Given the description of an element on the screen output the (x, y) to click on. 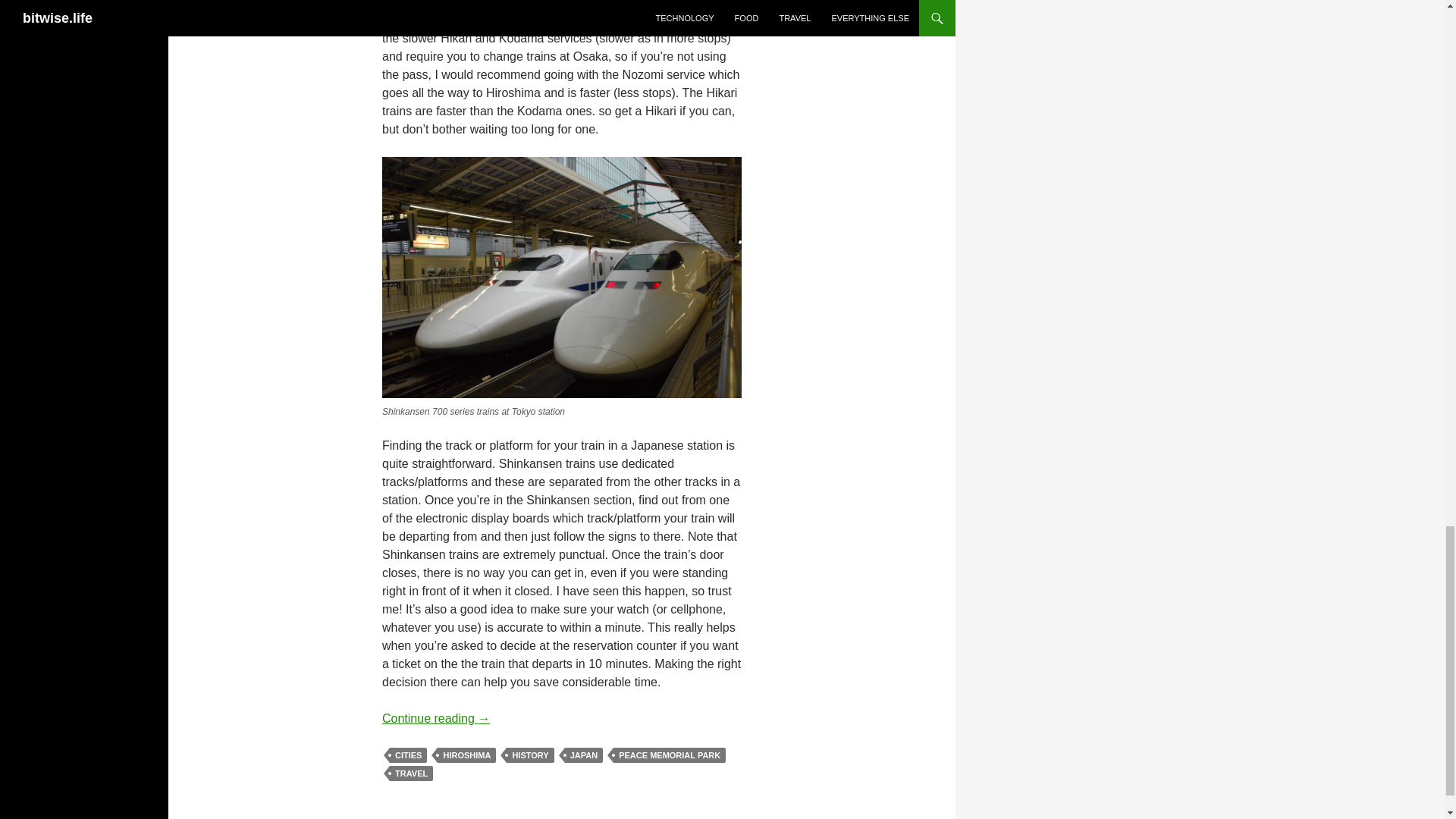
JAPAN (583, 754)
TRAVEL (411, 772)
HIROSHIMA (467, 754)
HISTORY (529, 754)
CITIES (408, 754)
PEACE MEMORIAL PARK (668, 754)
